Given the description of an element on the screen output the (x, y) to click on. 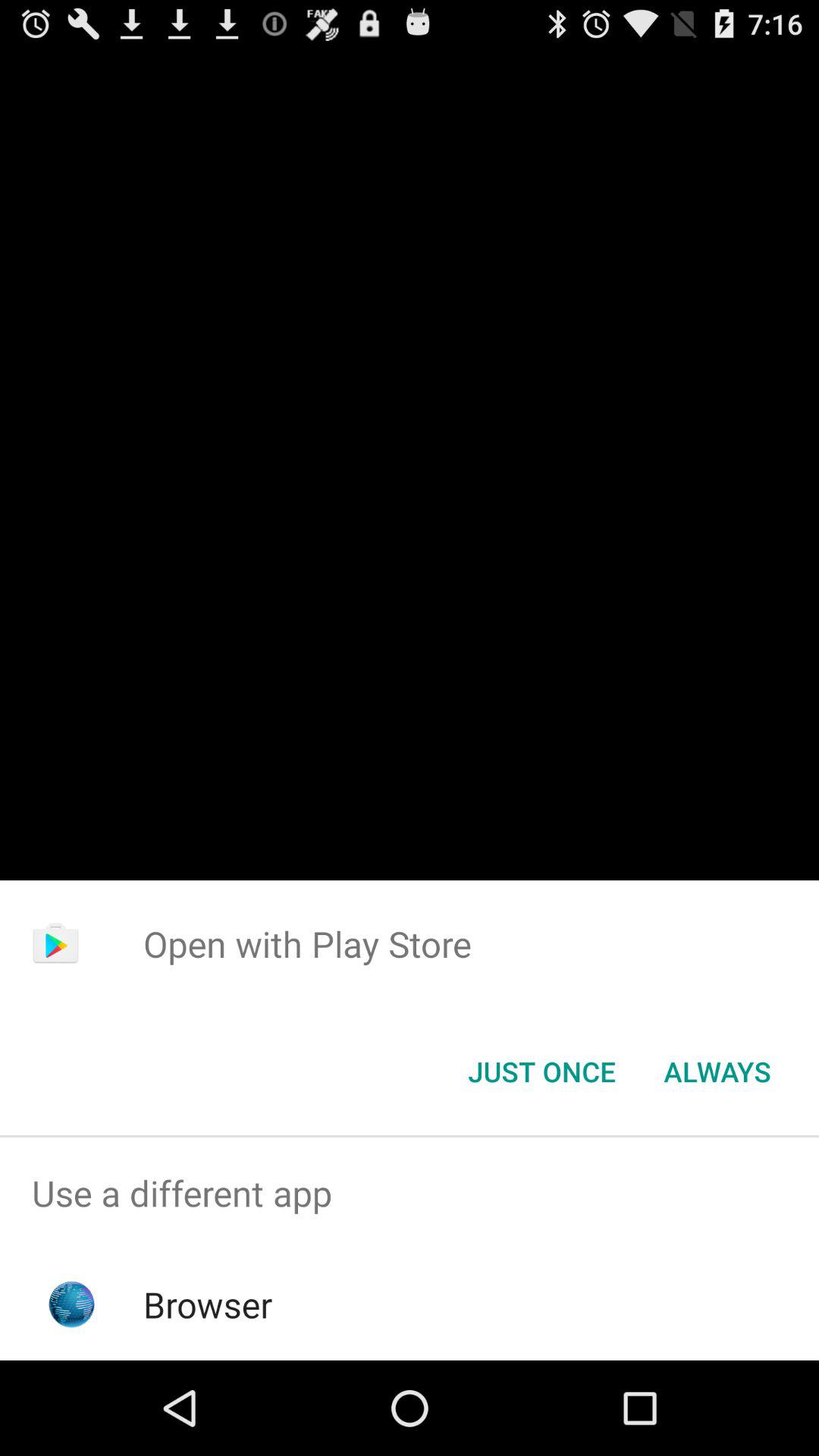
tap the browser app (207, 1304)
